Given the description of an element on the screen output the (x, y) to click on. 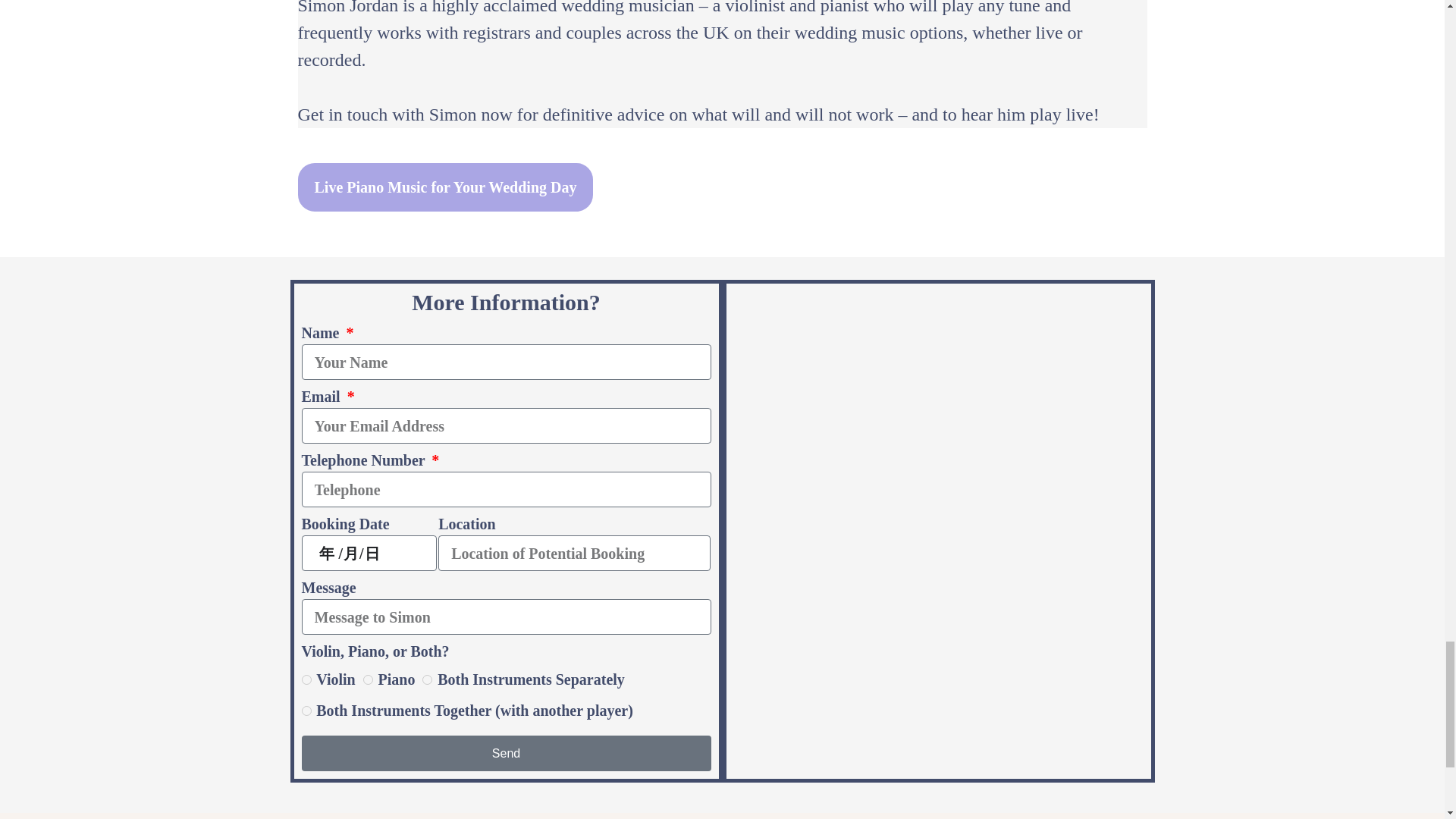
Violin (306, 679)
Piano (367, 679)
Both Instruments Separately (427, 679)
